Given the description of an element on the screen output the (x, y) to click on. 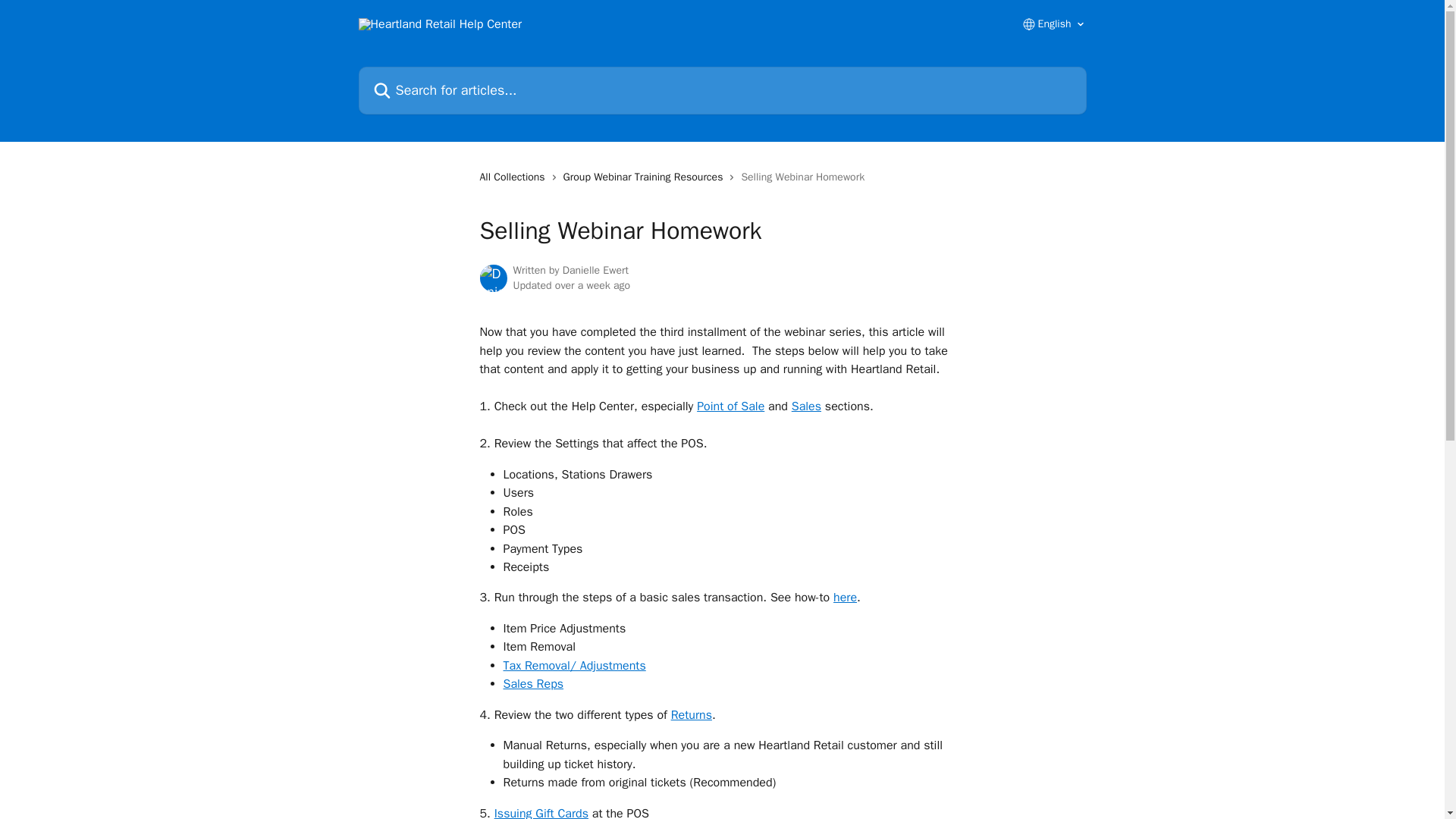
Sales Reps (533, 683)
All Collections (514, 176)
here (844, 597)
Sales (806, 406)
Returns (691, 714)
Issuing Gift Cards (541, 812)
Group Webinar Training Resources (646, 176)
Point of Sale (730, 406)
